Given the description of an element on the screen output the (x, y) to click on. 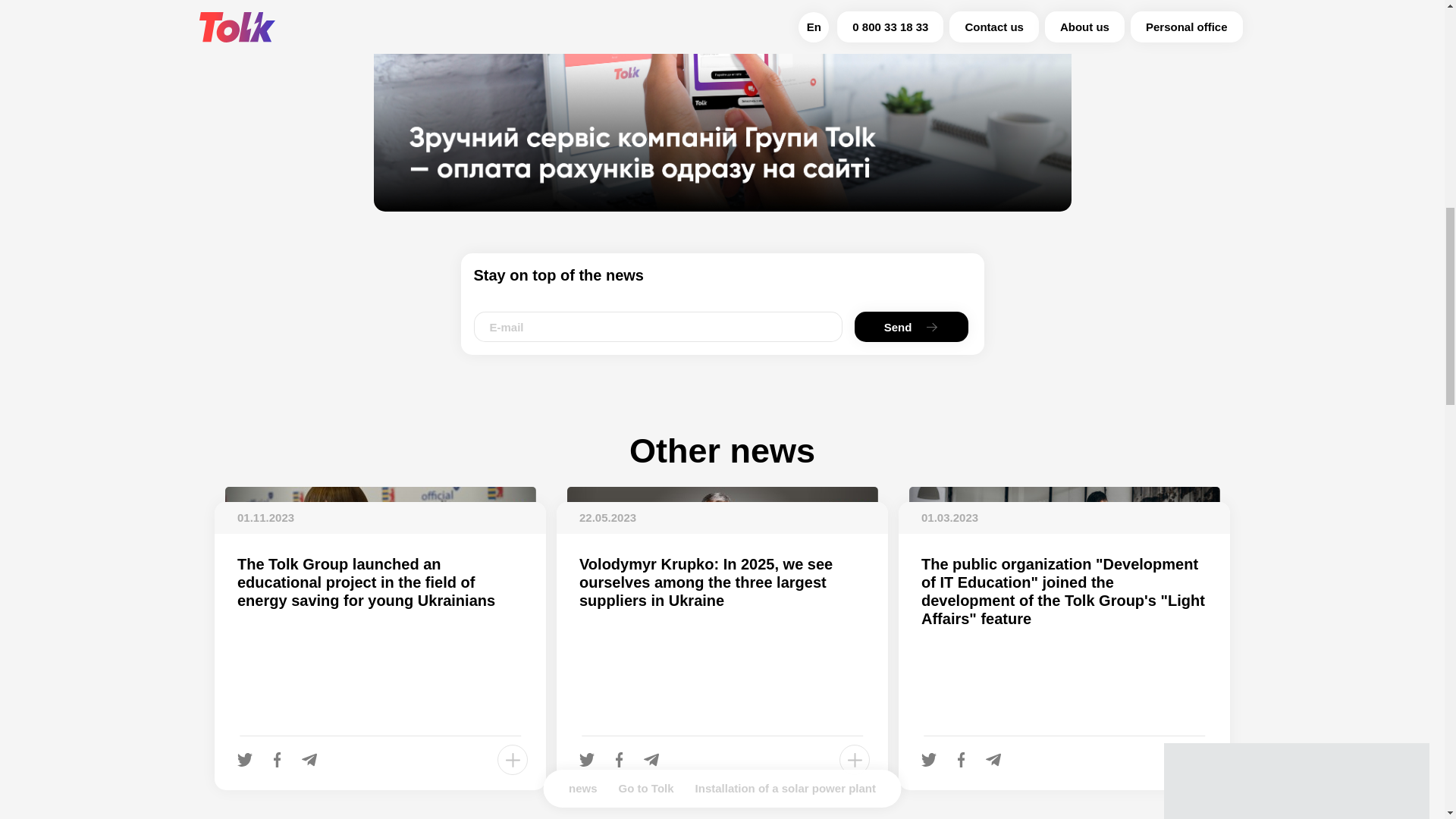
Send (910, 327)
